Given the description of an element on the screen output the (x, y) to click on. 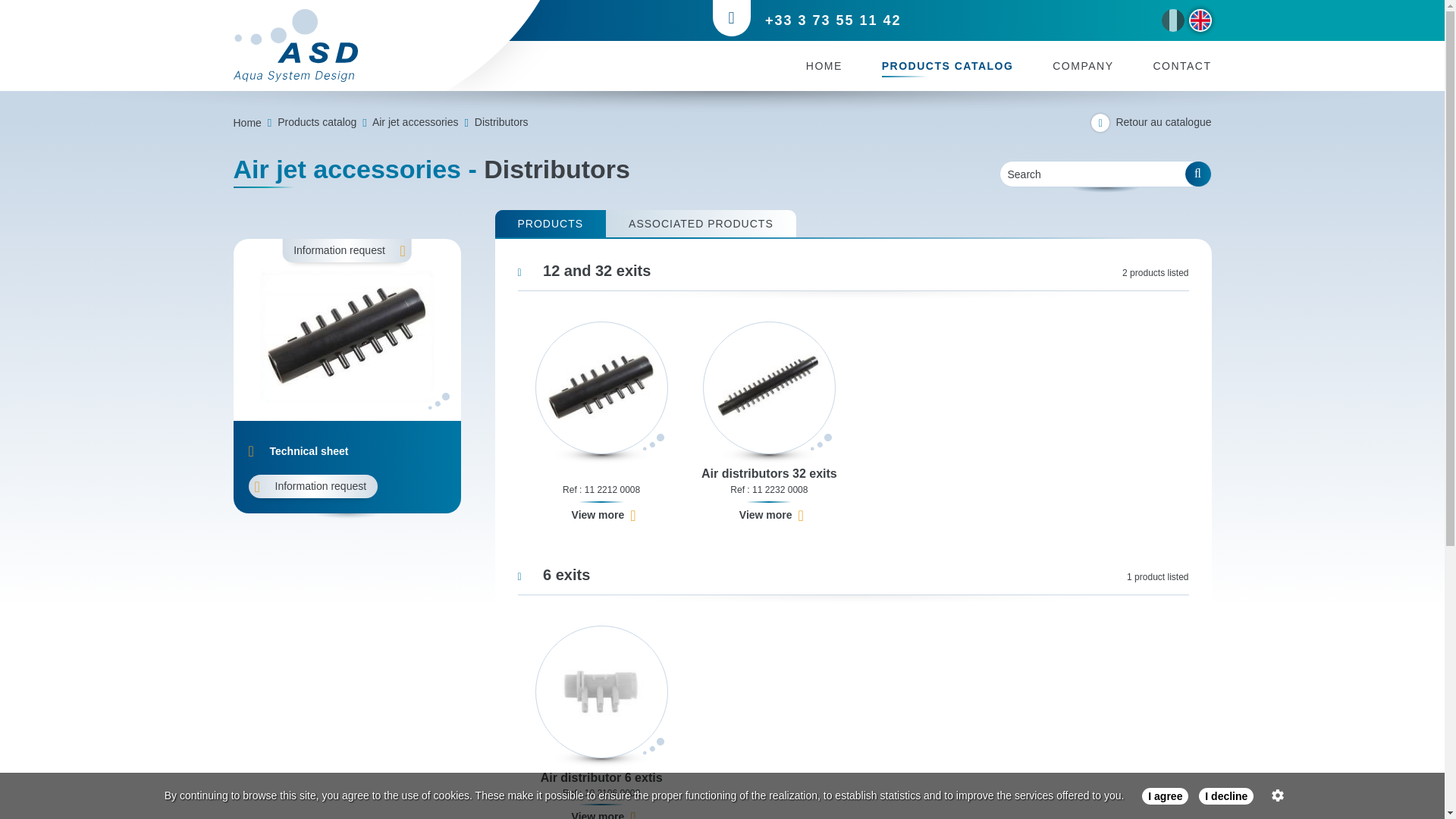
French (1173, 20)
Distributors (501, 121)
View more (604, 515)
Cancel search (1198, 173)
read more (1279, 795)
Products catalog (317, 121)
PRODUCTS CATALOG (947, 65)
Information request (313, 486)
View more (771, 515)
Air jet accessories (415, 121)
